Given the description of an element on the screen output the (x, y) to click on. 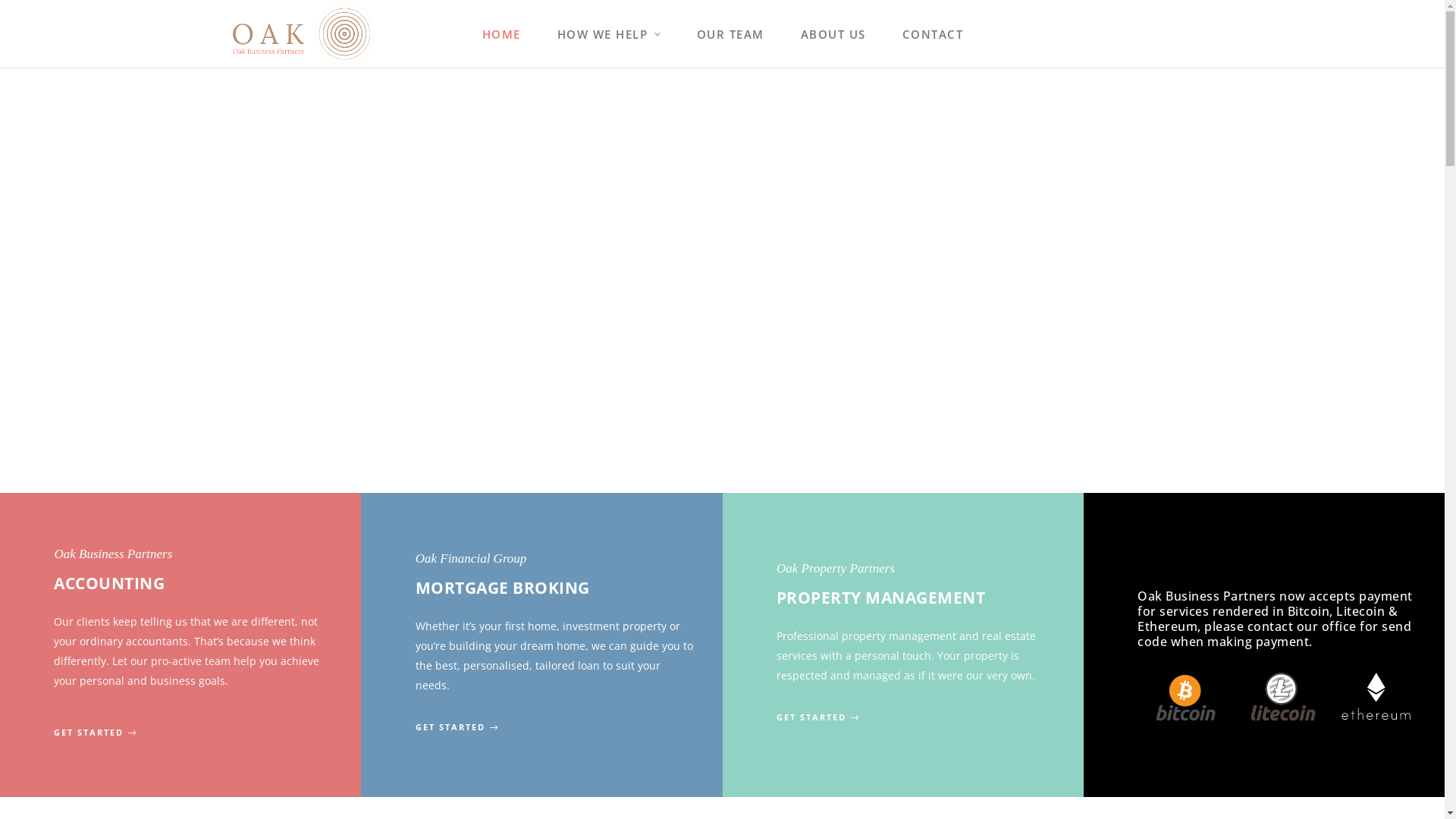
GET STARTED Element type: text (95, 732)
ABOUT US Element type: text (833, 33)
GET STARTED Element type: text (818, 717)
GET STARTED Element type: text (457, 727)
HOW WE HELP Element type: text (608, 33)
HOME Element type: text (501, 33)
OUR TEAM Element type: text (730, 33)
CONTACT Element type: text (933, 33)
U Element type: text (1432, 23)
